Given the description of an element on the screen output the (x, y) to click on. 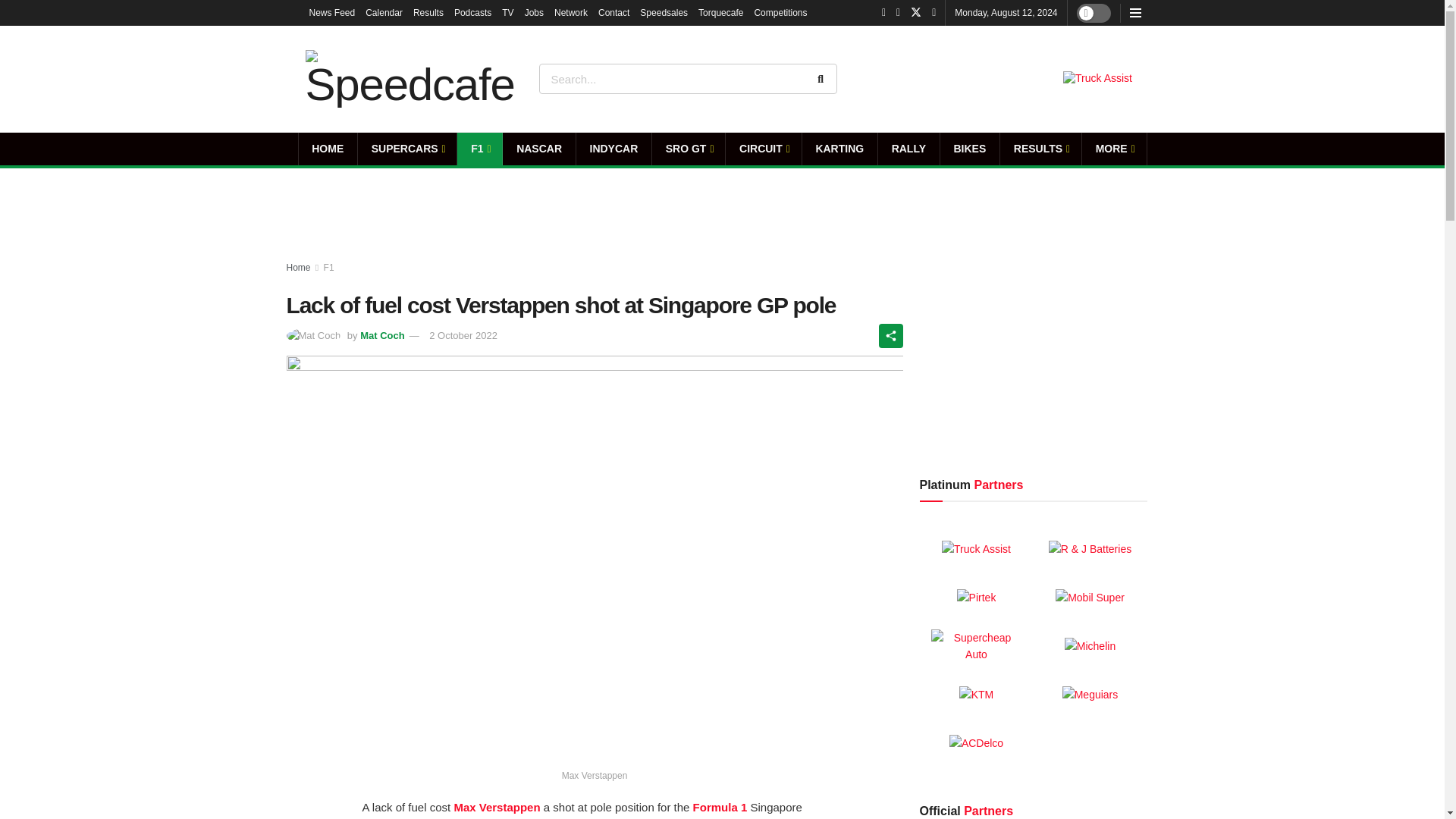
Torquecafe (720, 12)
Speedsales (663, 12)
Results (428, 12)
Contact (613, 12)
Calendar (384, 12)
Truck Assist (1097, 78)
F1 (479, 148)
Network (571, 12)
SUPERCARS (407, 148)
Competitions (780, 12)
